Given the description of an element on the screen output the (x, y) to click on. 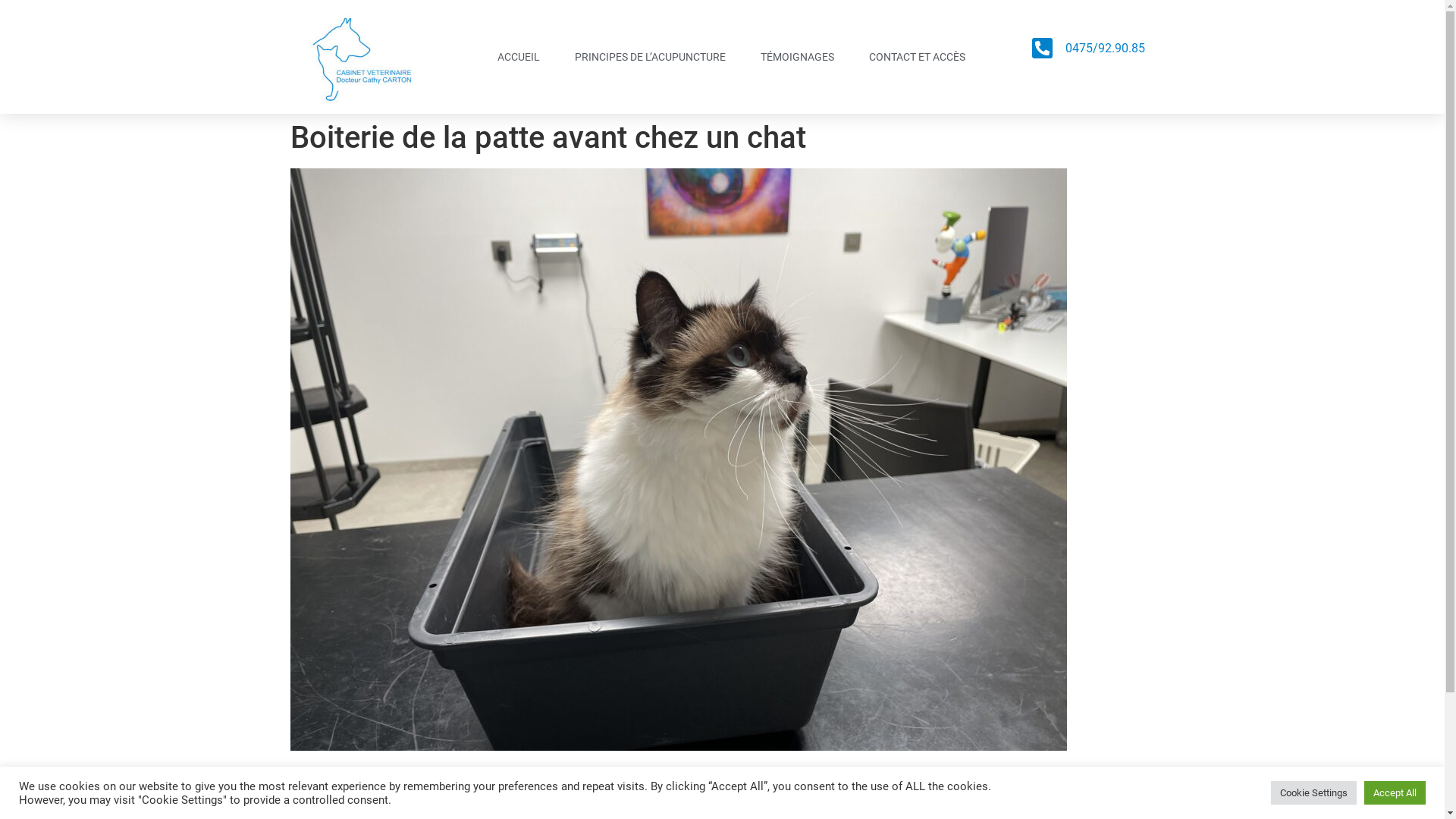
ACCUEIL Element type: text (518, 56)
Cookie Settings Element type: text (1313, 792)
Accept All Element type: text (1394, 792)
